Given the description of an element on the screen output the (x, y) to click on. 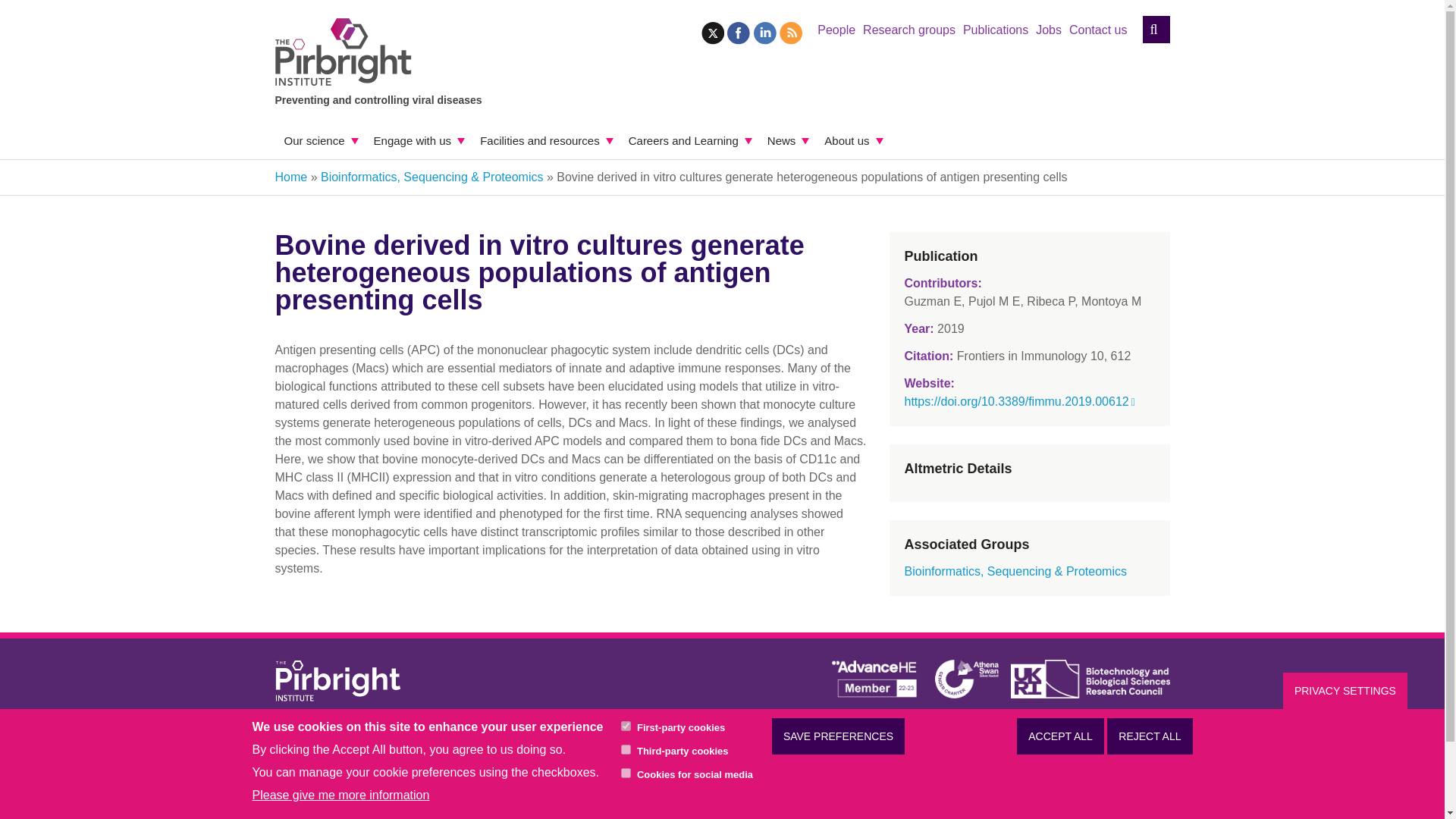
Skip to main content (784, 17)
social (625, 773)
internal (625, 726)
external (625, 749)
